Given the description of an element on the screen output the (x, y) to click on. 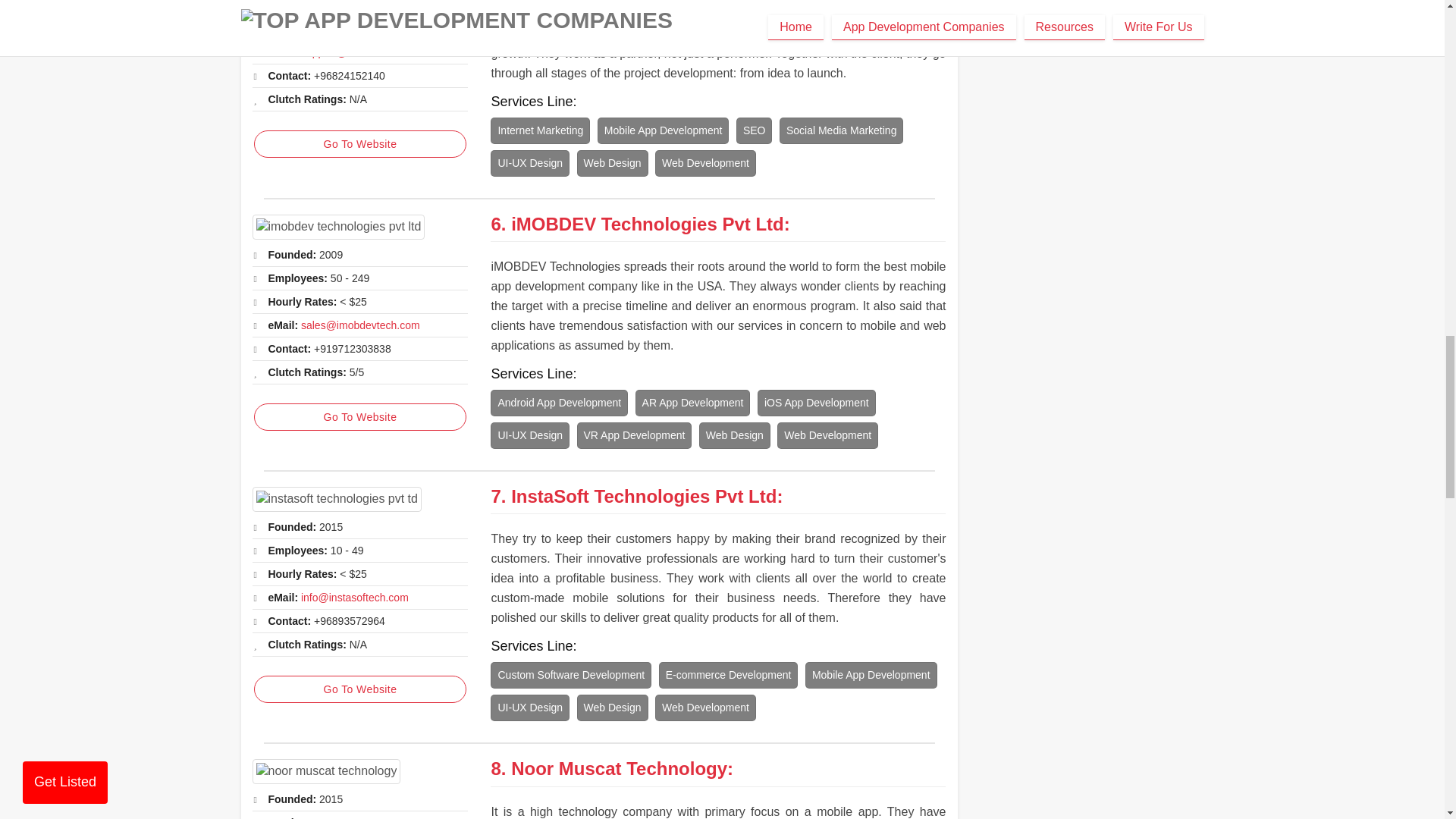
Go To Website (359, 416)
iMOBDEV Technologies Pvt Ltd (338, 226)
Go To Website (359, 688)
Noor Muscat Technology (325, 771)
InstaSoft Technologies Pvt Ltd (643, 496)
InstaSoft Technologies Pvt Ltd (335, 498)
iMOBDEV Technologies Pvt Ltd (647, 223)
Go To Website (359, 144)
